Given the description of an element on the screen output the (x, y) to click on. 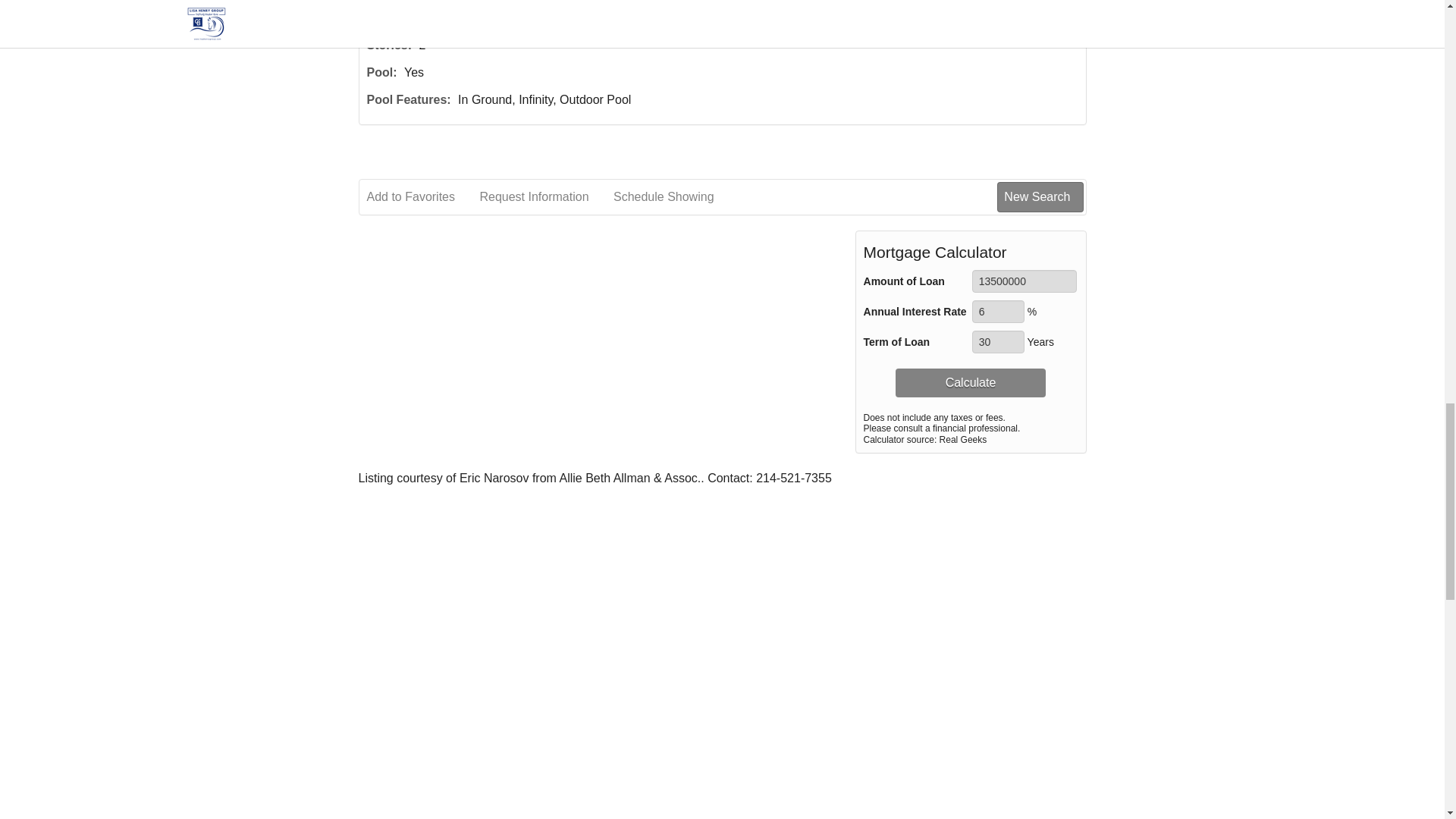
30 (998, 341)
6 (998, 311)
13500000 (1024, 281)
